Given the description of an element on the screen output the (x, y) to click on. 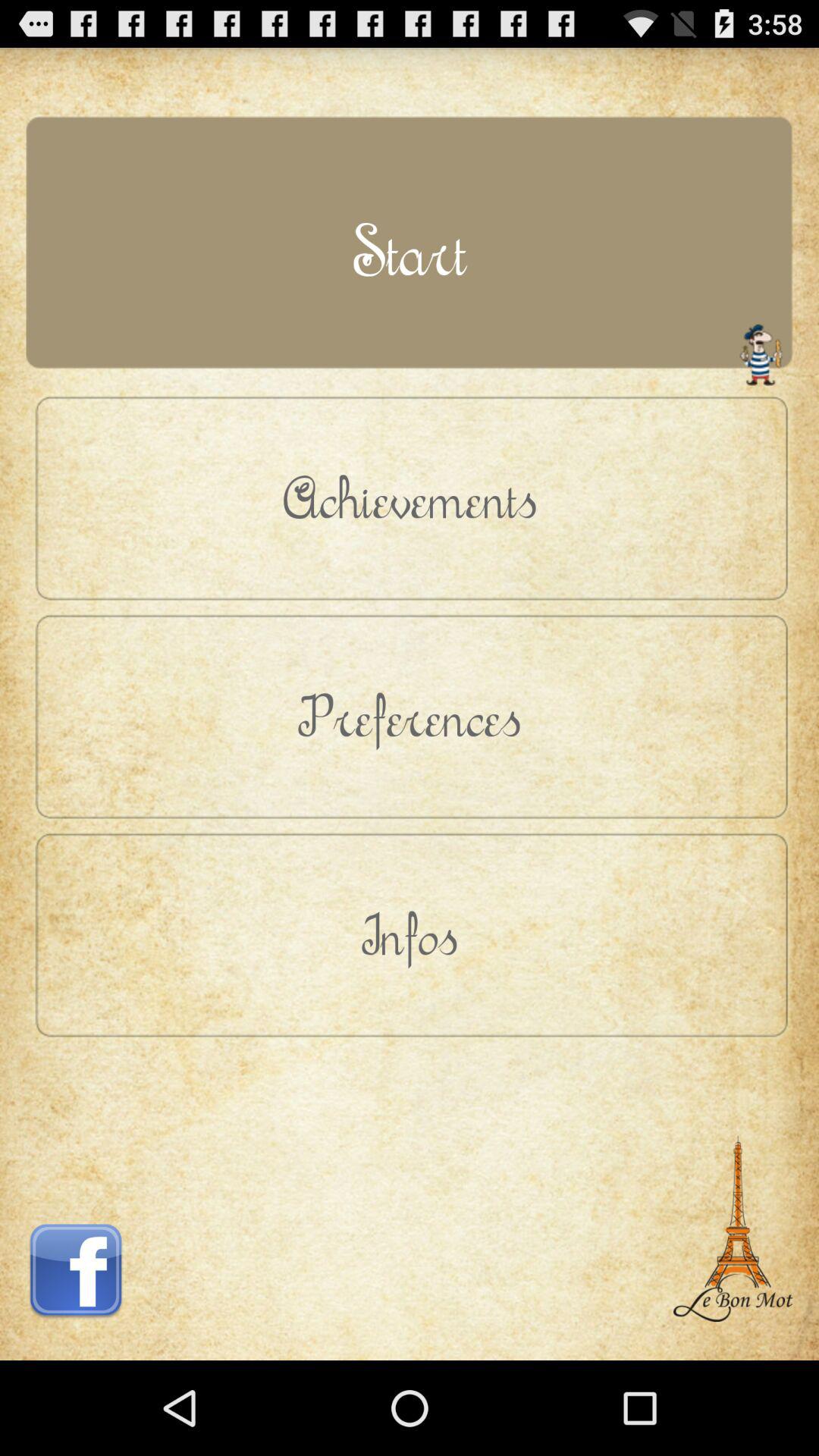
flip to the start button (409, 250)
